Given the description of an element on the screen output the (x, y) to click on. 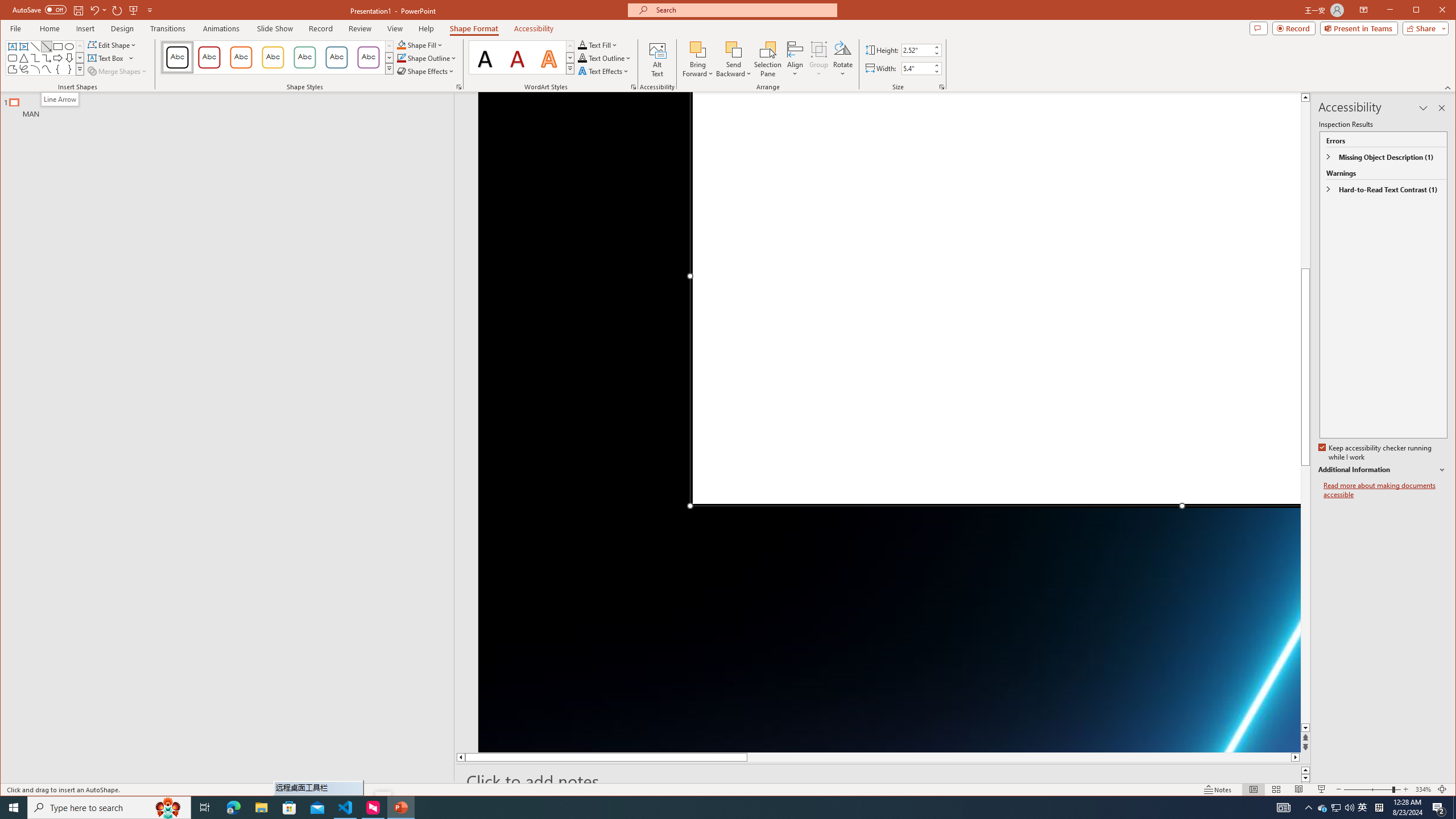
Text Fill (598, 44)
Colored Outline - Green, Accent 4 (304, 57)
Colored Outline - Purple, Accent 6 (368, 57)
